Given the description of an element on the screen output the (x, y) to click on. 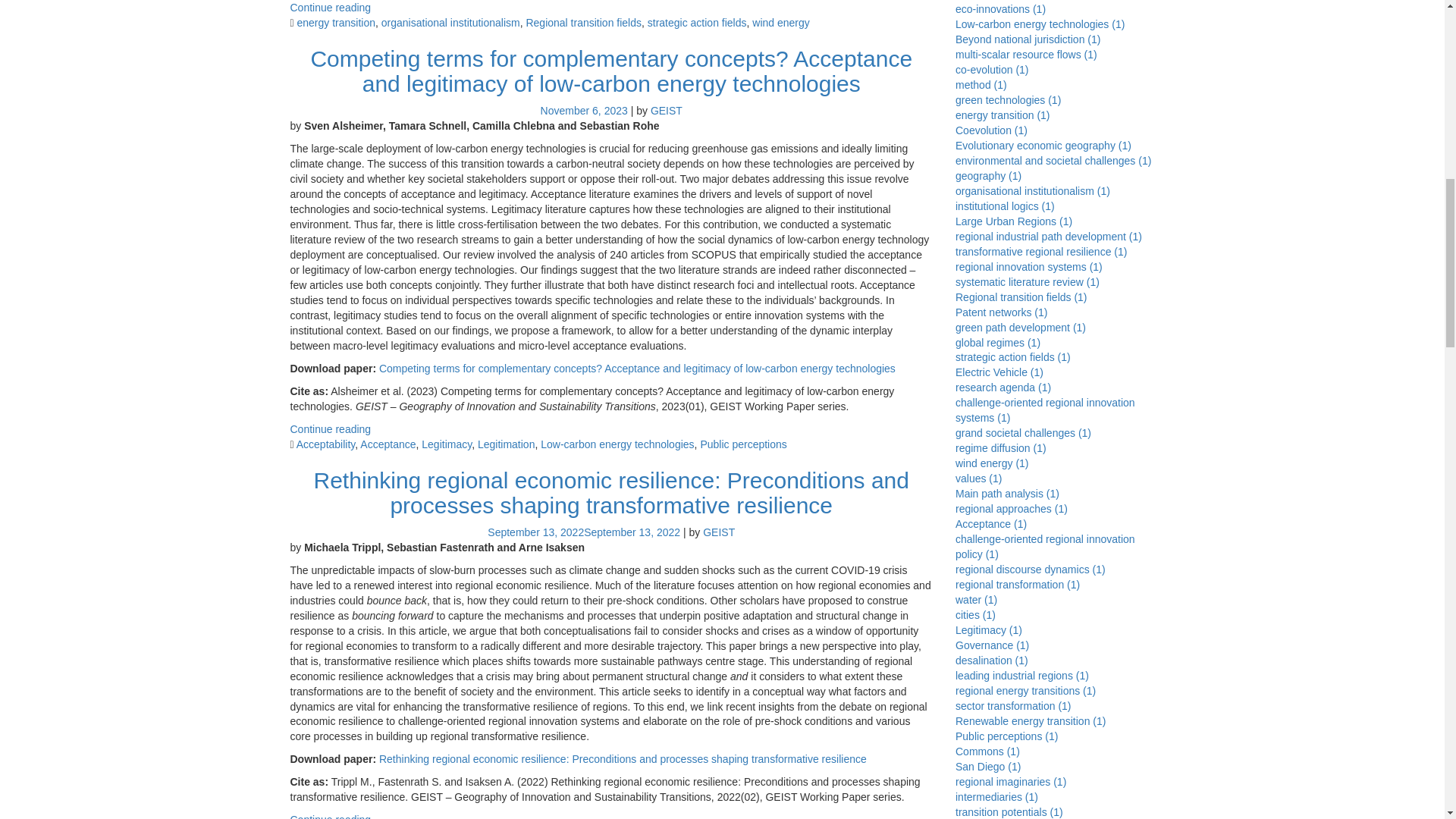
Legitimation (506, 444)
November 6, 2023 (583, 110)
strategic action fields (696, 22)
Legitimacy (446, 444)
Acceptability (326, 444)
organisational institutionalism (450, 22)
Acceptance (386, 444)
Public perceptions (743, 444)
GEIST (666, 110)
Regional transition fields (583, 22)
GEIST (719, 532)
